Given the description of an element on the screen output the (x, y) to click on. 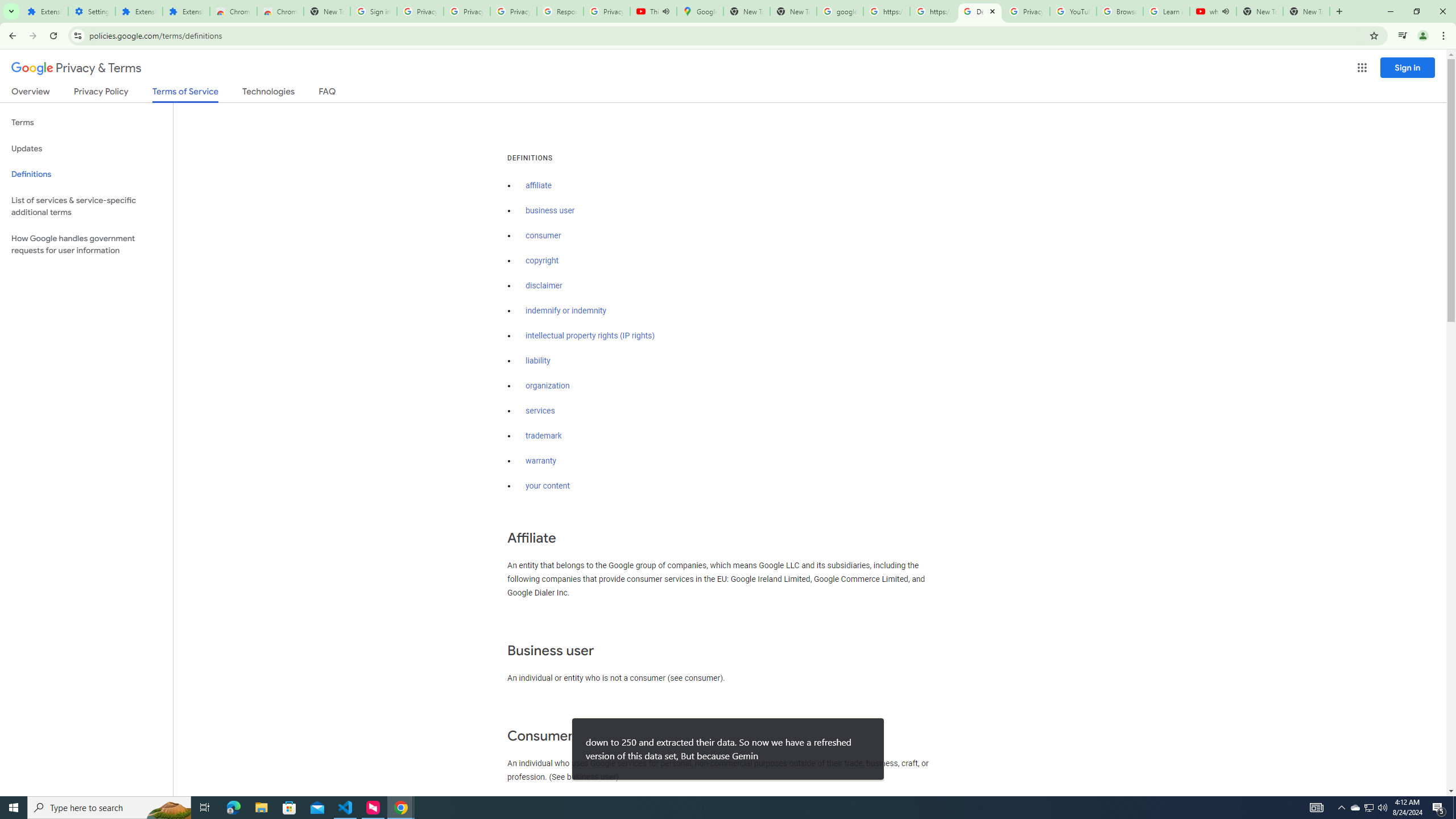
YouTube (1073, 11)
affiliate (538, 185)
liability (537, 361)
organization (547, 385)
Extensions (44, 11)
